Given the description of an element on the screen output the (x, y) to click on. 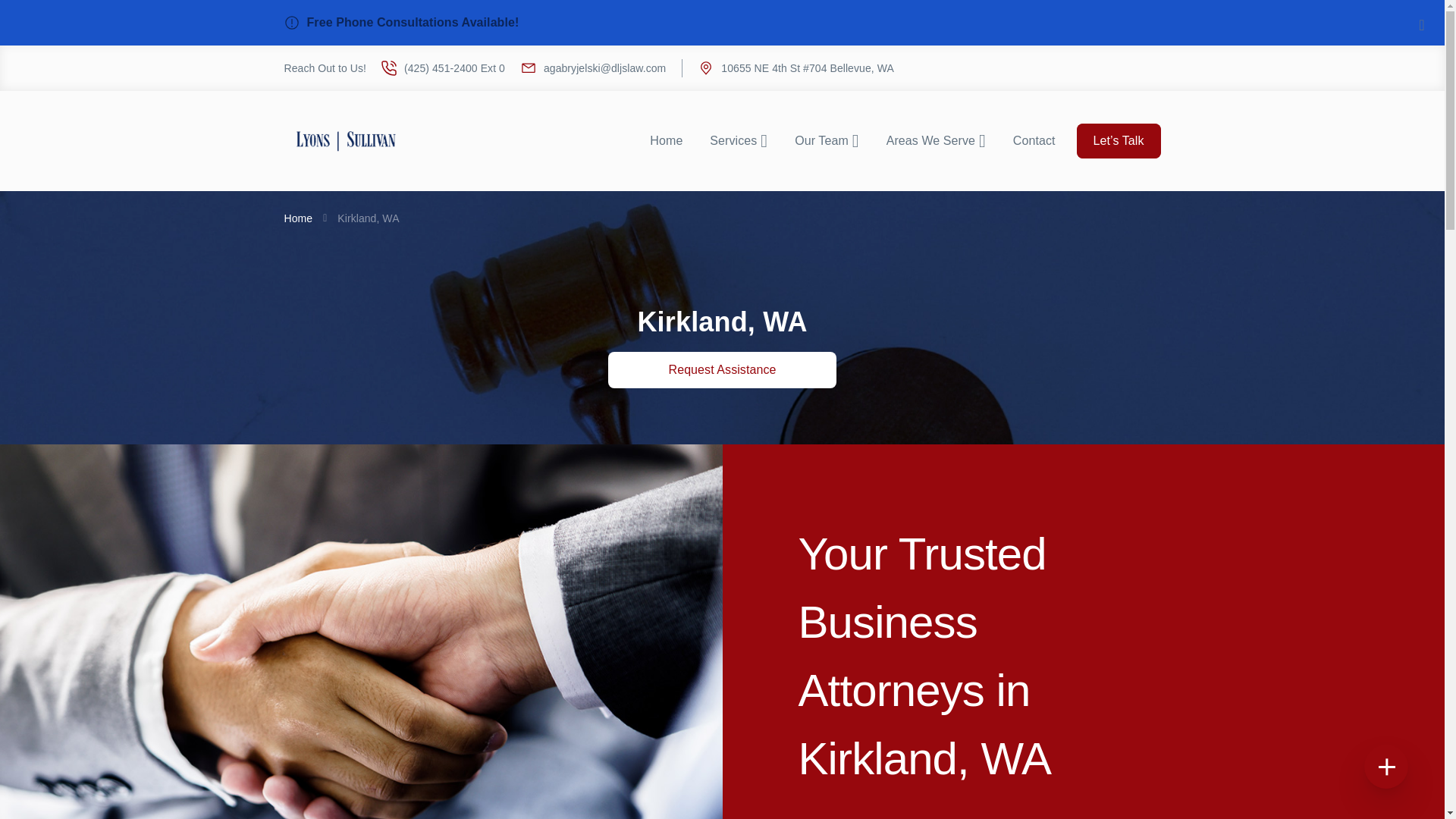
Contact (1033, 141)
Areas We Serve (935, 141)
Services (737, 141)
Request Assistance (722, 370)
Our Team (826, 141)
Home (665, 141)
Home (298, 218)
